Given the description of an element on the screen output the (x, y) to click on. 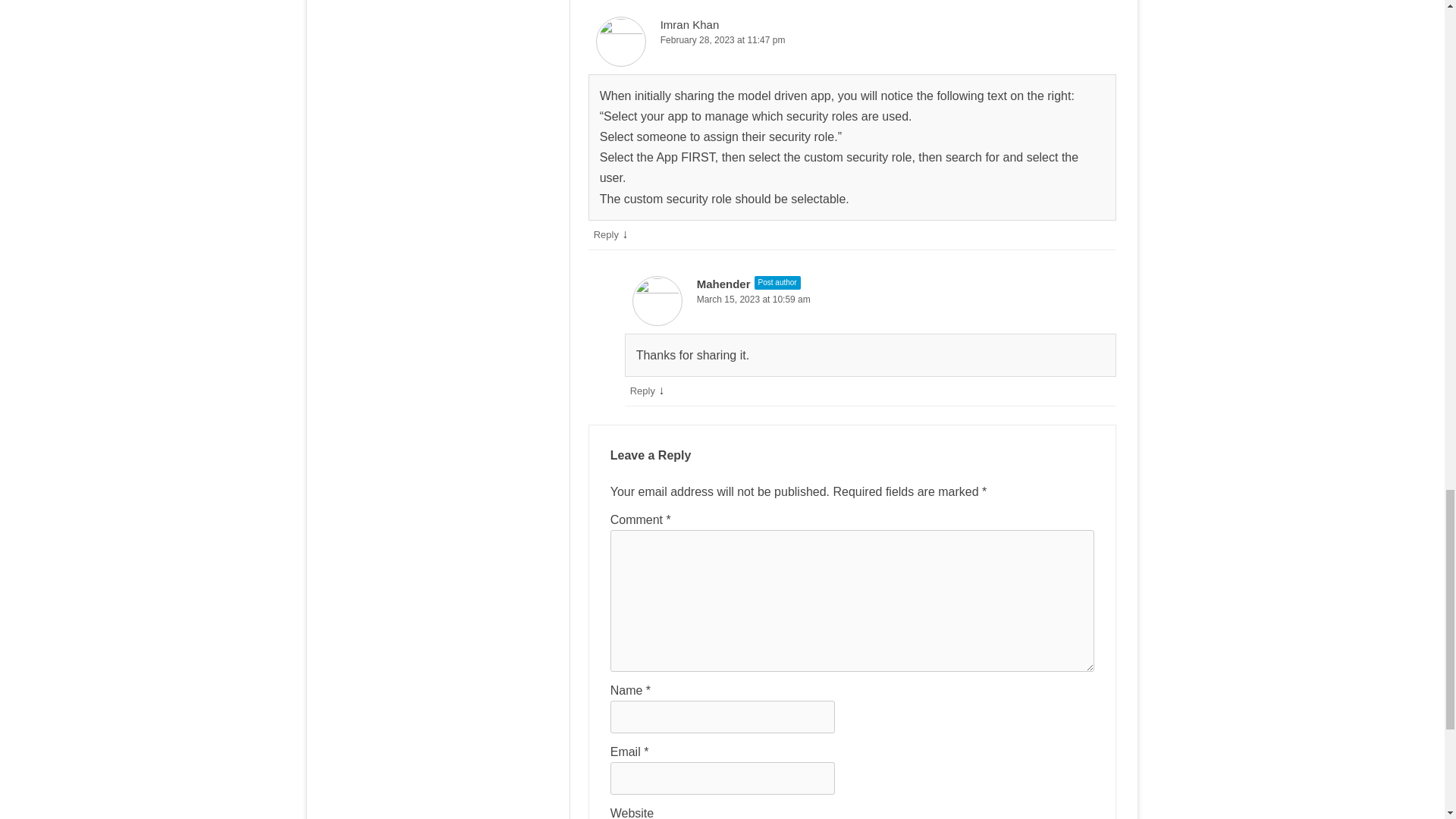
Reply (642, 390)
February 28, 2023 at 11:47 pm (852, 40)
March 15, 2023 at 10:59 am (870, 299)
Mahender (724, 283)
Reply (606, 234)
